Given the description of an element on the screen output the (x, y) to click on. 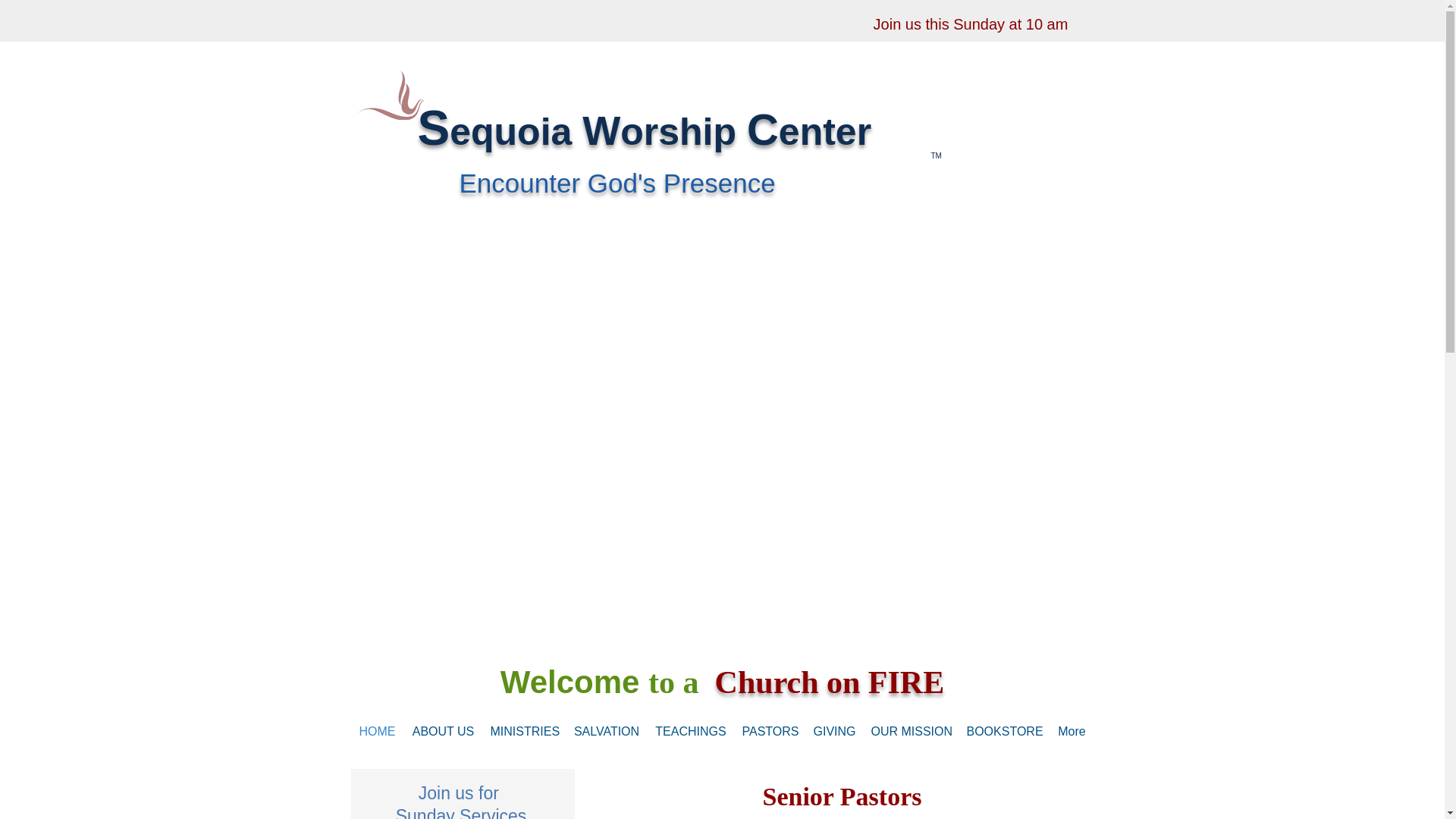
ia (561, 131)
uo (517, 131)
orship (683, 131)
BOOKSTORE (1003, 731)
HOME (376, 731)
ABOUT US (442, 731)
TEACHINGS (691, 731)
eq (471, 131)
PASTORS (769, 731)
SALVATION (606, 731)
